Given the description of an element on the screen output the (x, y) to click on. 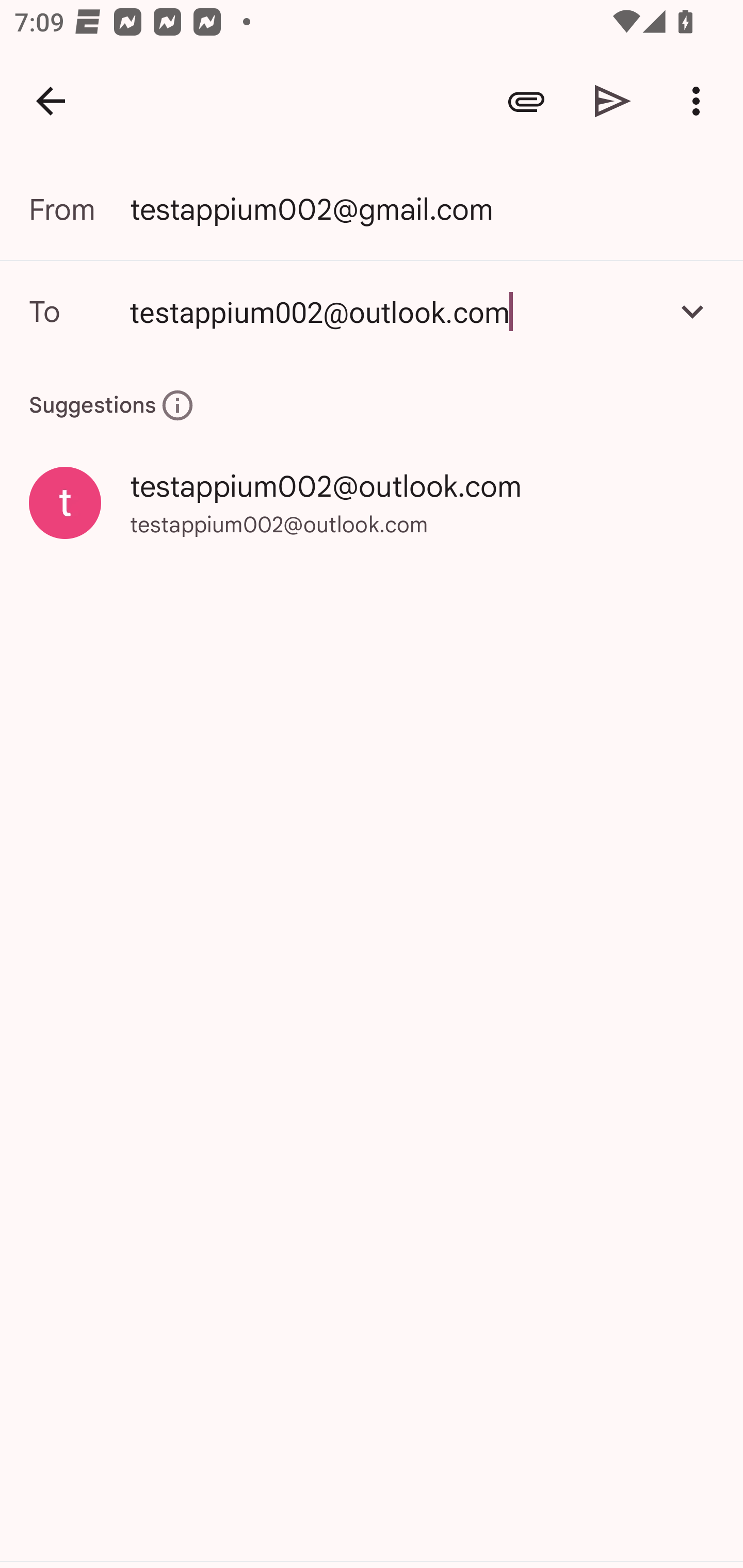
Navigate up (50, 101)
Attach file (525, 101)
Send (612, 101)
More options (699, 101)
From (79, 209)
Add Cc/Bcc (692, 311)
testappium002@outlook.com (371, 311)
testappium002@outlook.com (393, 311)
How suggestions work (177, 405)
